Given the description of an element on the screen output the (x, y) to click on. 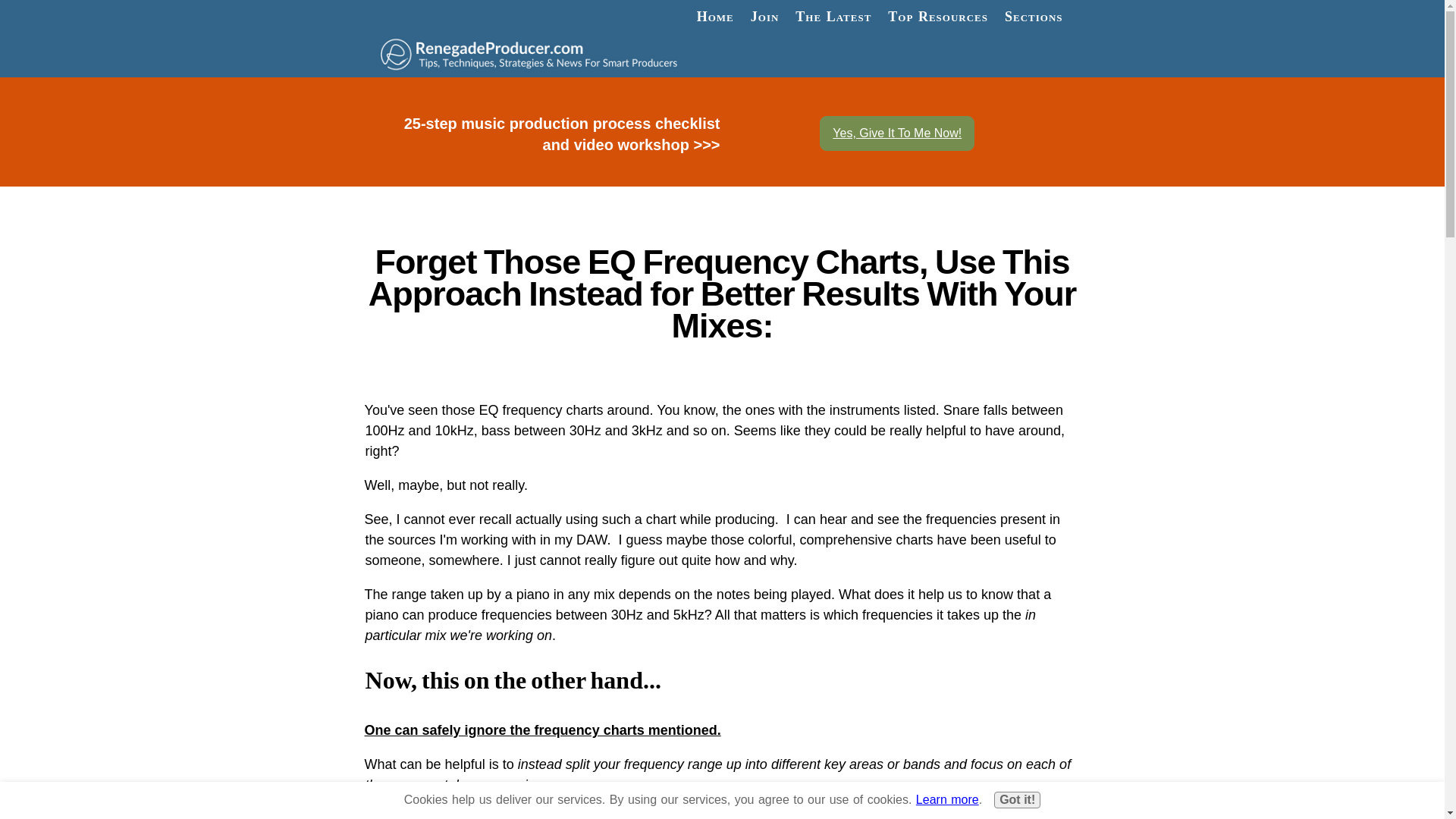
Home (715, 16)
Learn more (946, 799)
Top Resources (937, 16)
Yes, Give It To Me Now! (896, 133)
The Latest (833, 16)
Join (764, 16)
Got it! (1017, 799)
